Given the description of an element on the screen output the (x, y) to click on. 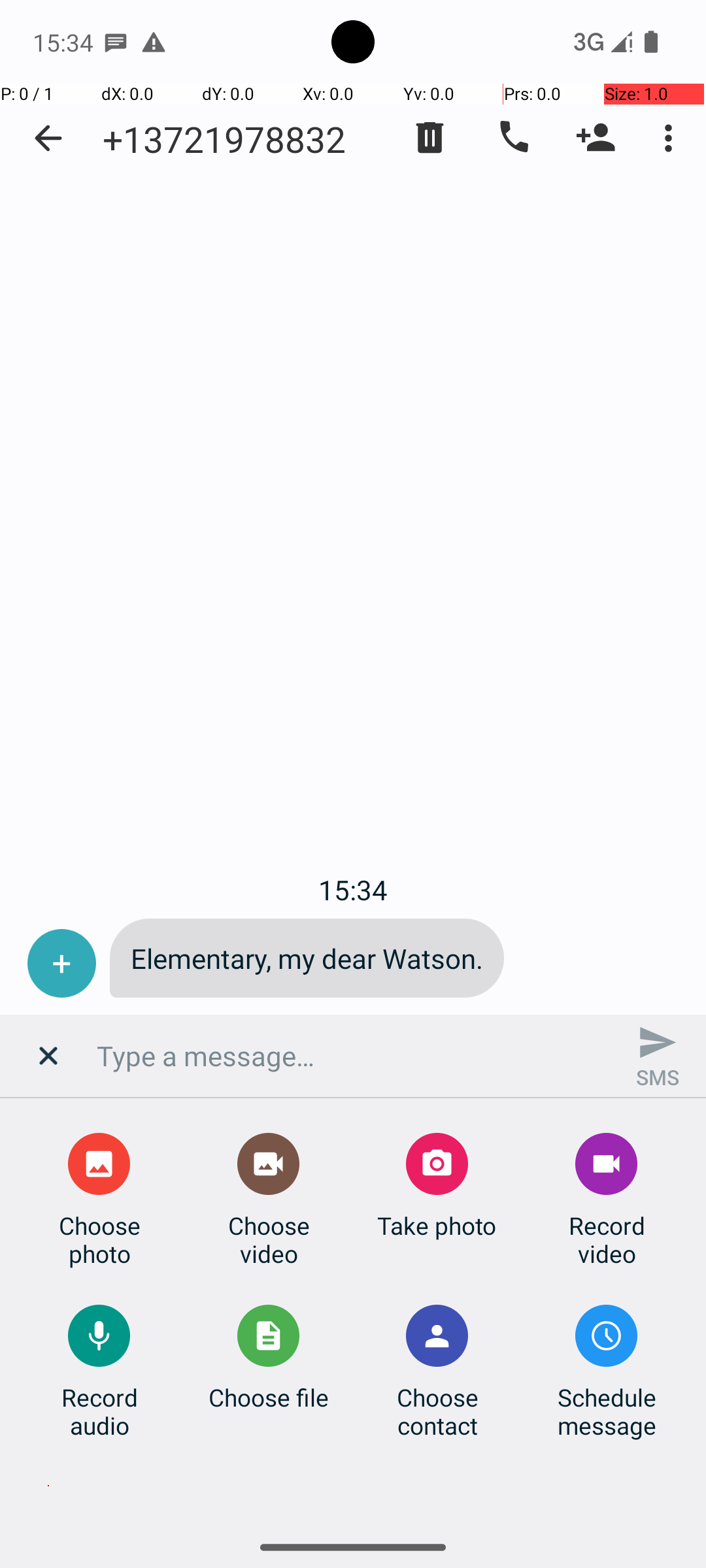
+13721978832 Element type: android.widget.TextView (223, 138)
Elementary, my dear Watson. Element type: android.widget.TextView (306, 957)
Choose photo Element type: android.widget.TextView (98, 1239)
Choose video Element type: android.widget.TextView (268, 1239)
Take photo Element type: android.widget.TextView (436, 1224)
Record video Element type: android.widget.TextView (606, 1239)
Record audio Element type: android.widget.TextView (98, 1410)
Choose file Element type: android.widget.TextView (268, 1396)
Choose contact Element type: android.widget.TextView (436, 1410)
Schedule message Element type: android.widget.TextView (606, 1410)
